Given the description of an element on the screen output the (x, y) to click on. 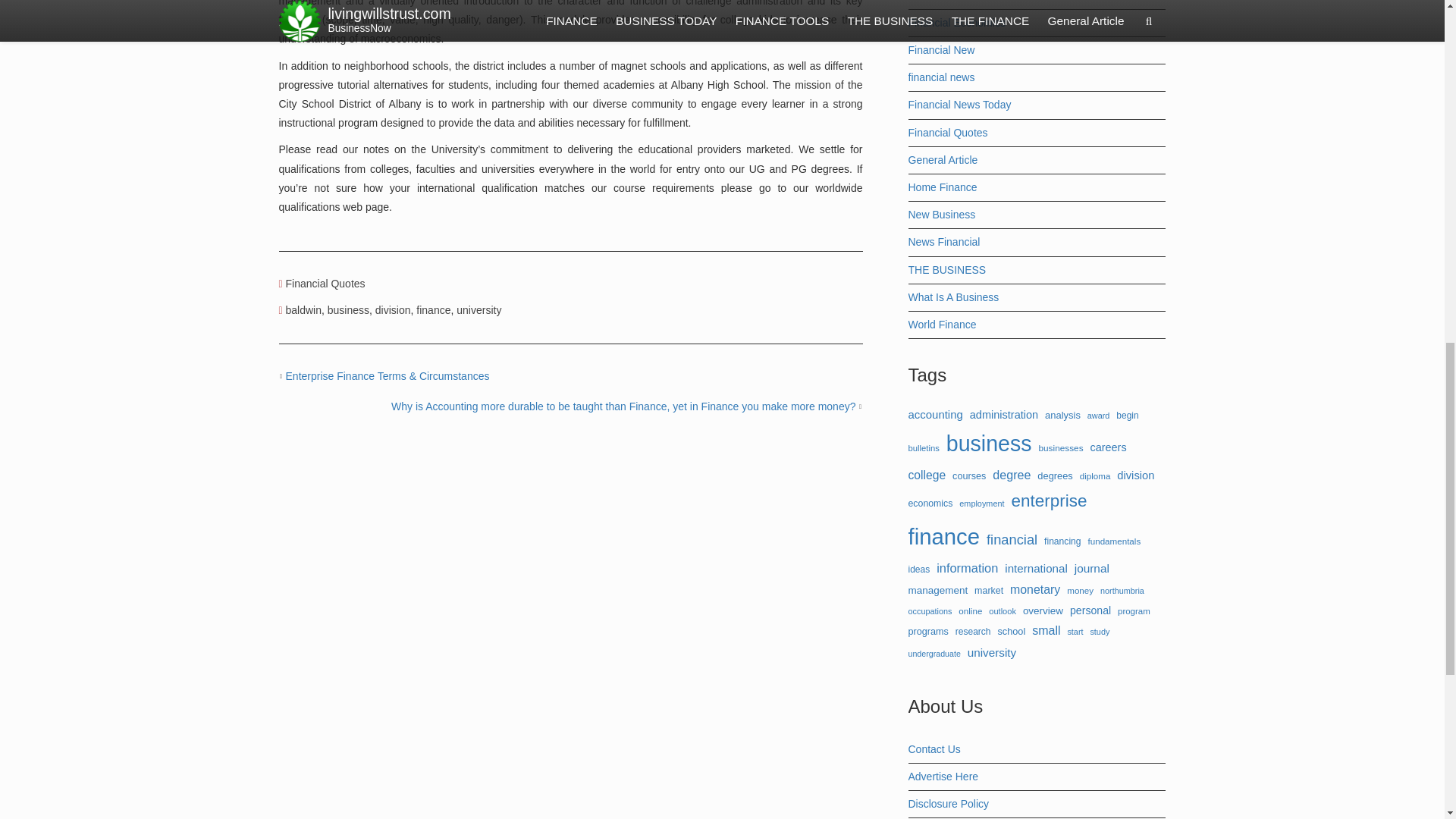
Financial Quotes (325, 283)
university (478, 309)
baldwin (303, 309)
finance (432, 309)
business (348, 309)
division (392, 309)
